Given the description of an element on the screen output the (x, y) to click on. 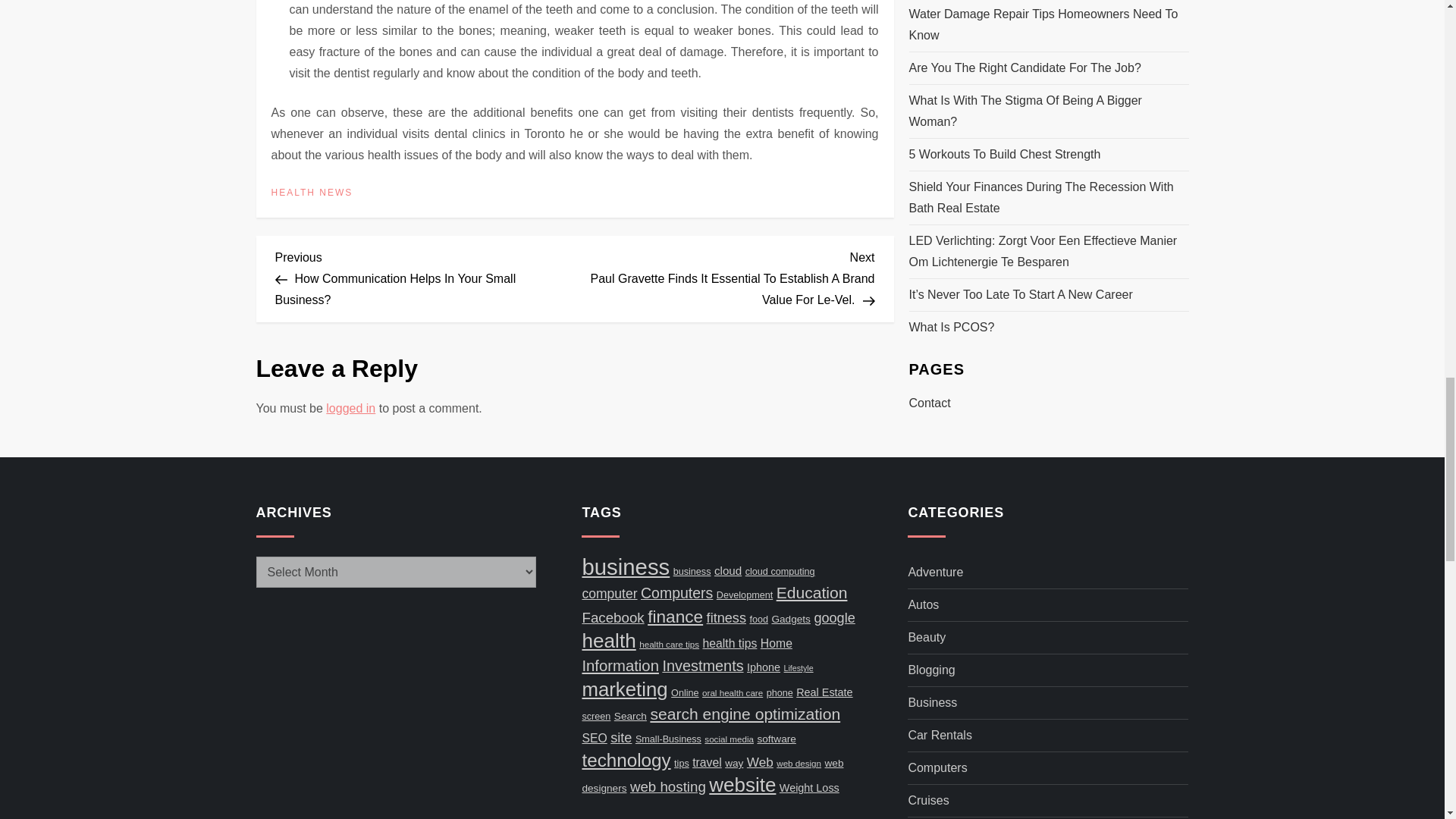
business (624, 566)
HEALTH NEWS (311, 193)
logged in (350, 408)
